Given the description of an element on the screen output the (x, y) to click on. 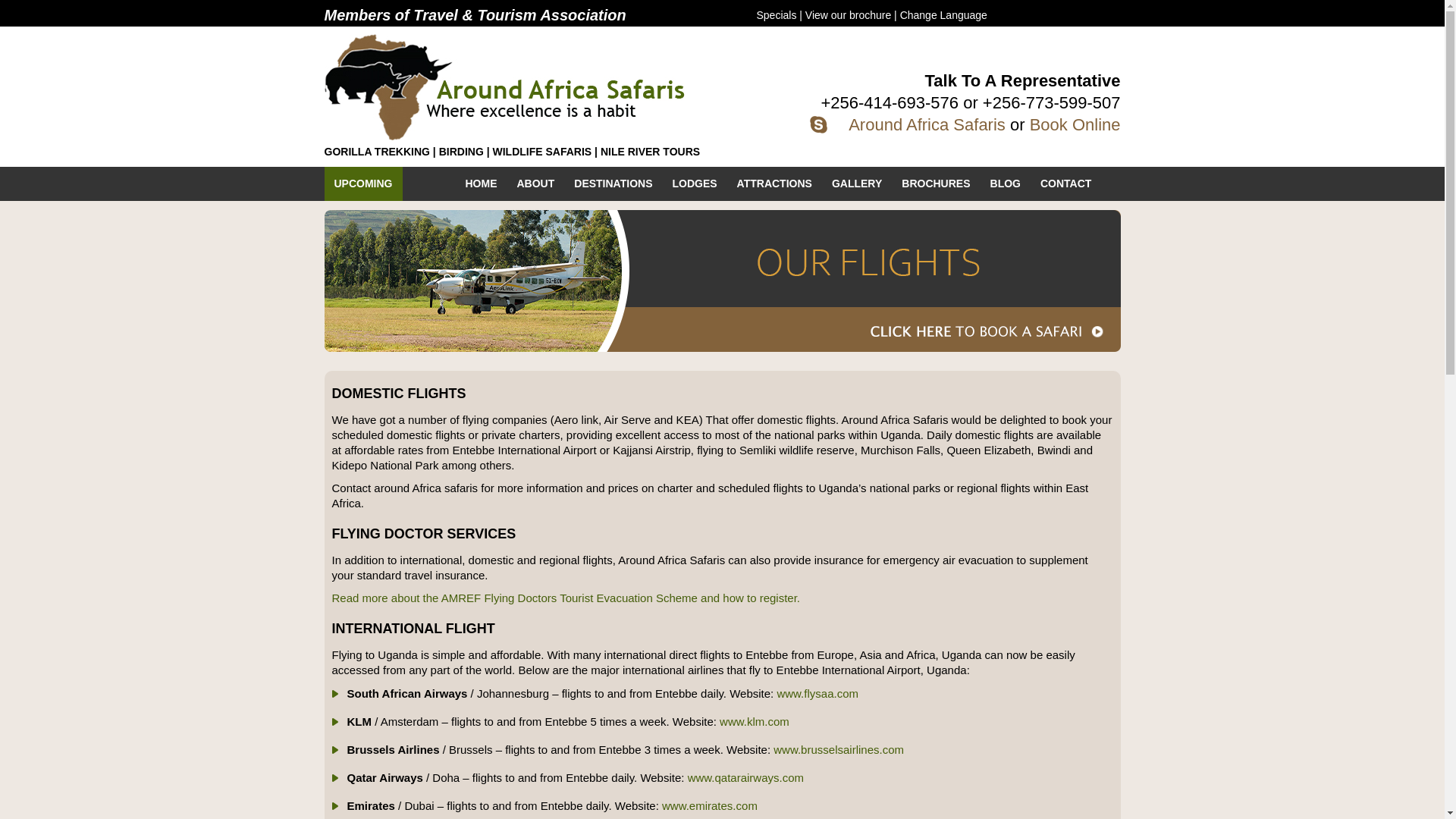
View our brochure (848, 15)
WILDLIFE SAFARIS (542, 151)
DESTINATIONS (613, 183)
BIRDING (461, 151)
UPCOMING (363, 183)
BLOG (1004, 183)
Specials (776, 15)
HOME (480, 183)
BROCHURES (935, 183)
Around Africa Safaris (927, 124)
ABOUT (535, 183)
GORILLA TREKKING (376, 151)
ATTRACTIONS (774, 183)
LODGES (694, 183)
